Given the description of an element on the screen output the (x, y) to click on. 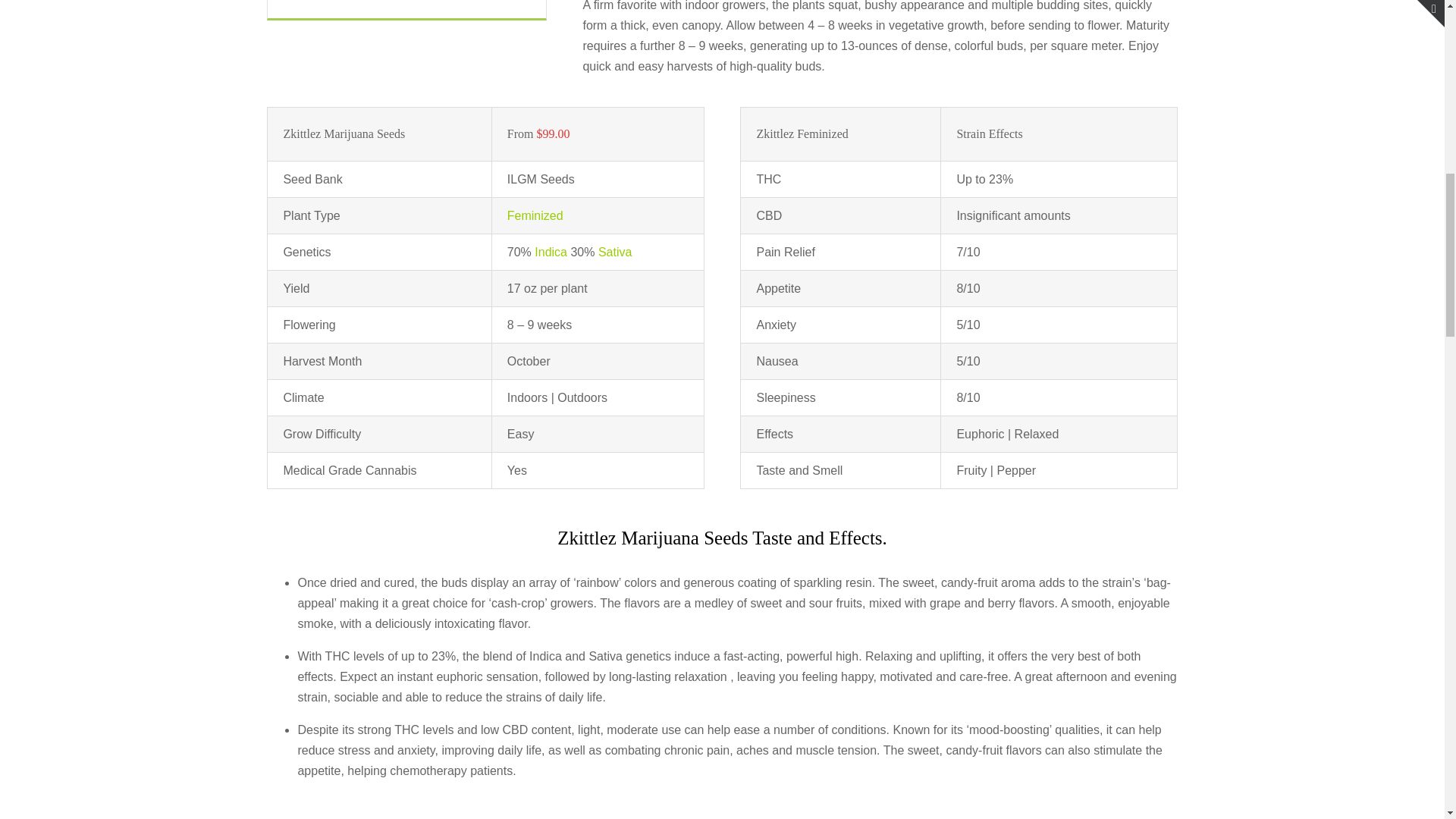
Feminized (534, 215)
Sativa (614, 251)
Indica (550, 251)
